Given the description of an element on the screen output the (x, y) to click on. 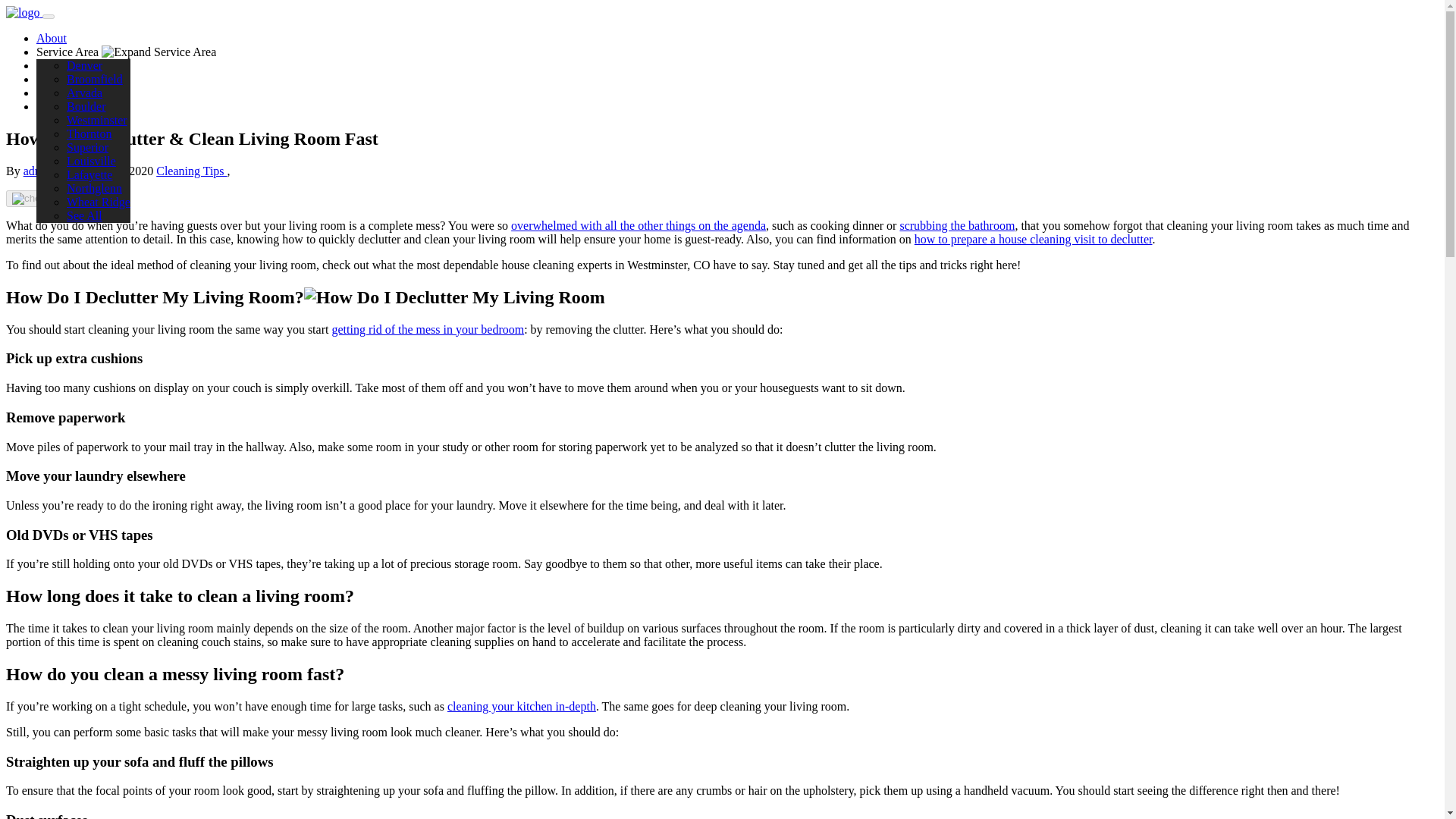
See All (83, 215)
Lafayette (89, 174)
About (51, 38)
Boulder (86, 106)
Call Now (59, 106)
Service Area (125, 51)
Northglenn (94, 187)
Superior (86, 146)
0 Comments (59, 198)
How Do I Declutter My Living Room (454, 297)
